Given the description of an element on the screen output the (x, y) to click on. 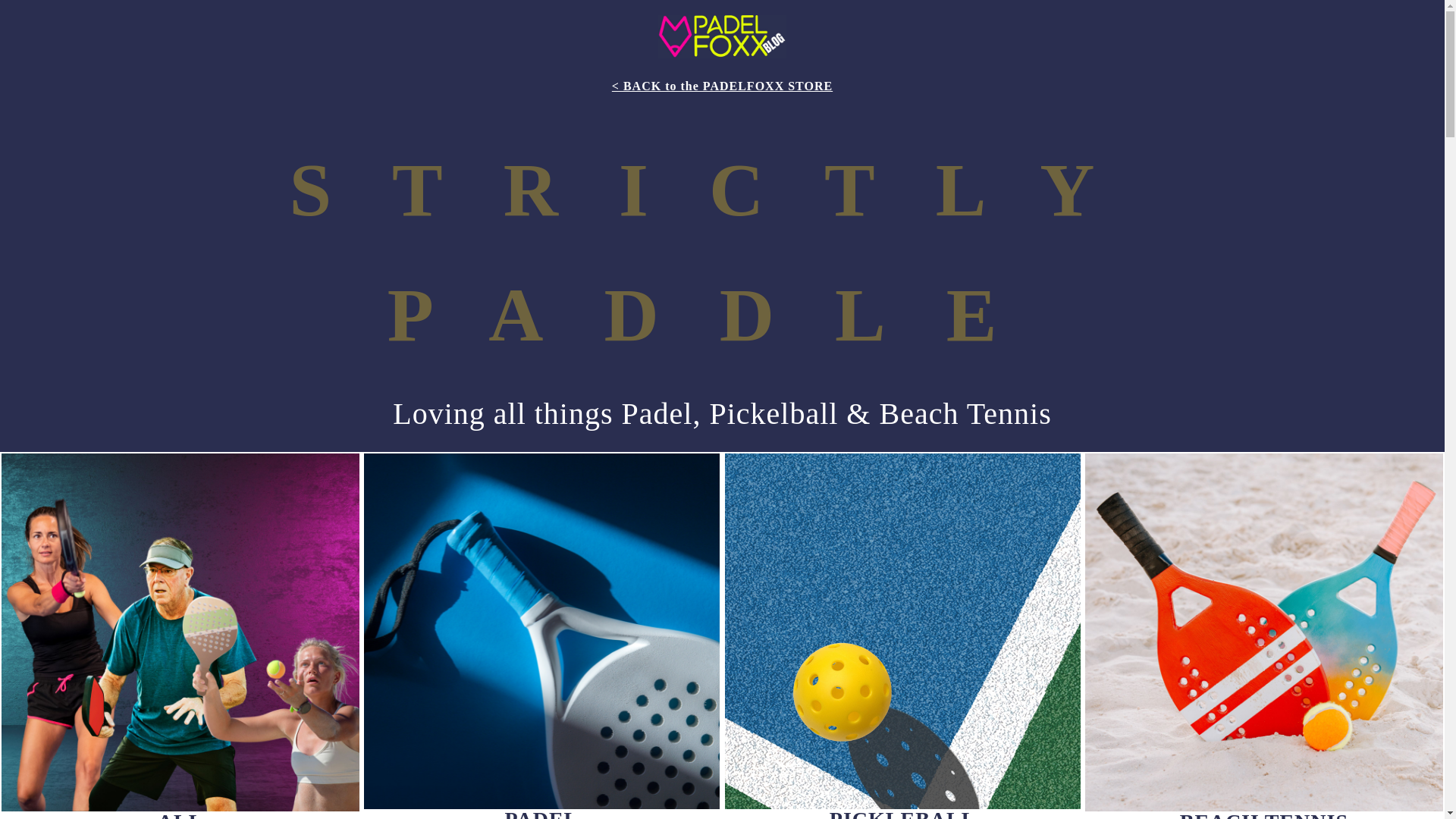
4 (541, 631)
Beach Tennis Rackets in the sand (1263, 632)
5 (902, 631)
